Given the description of an element on the screen output the (x, y) to click on. 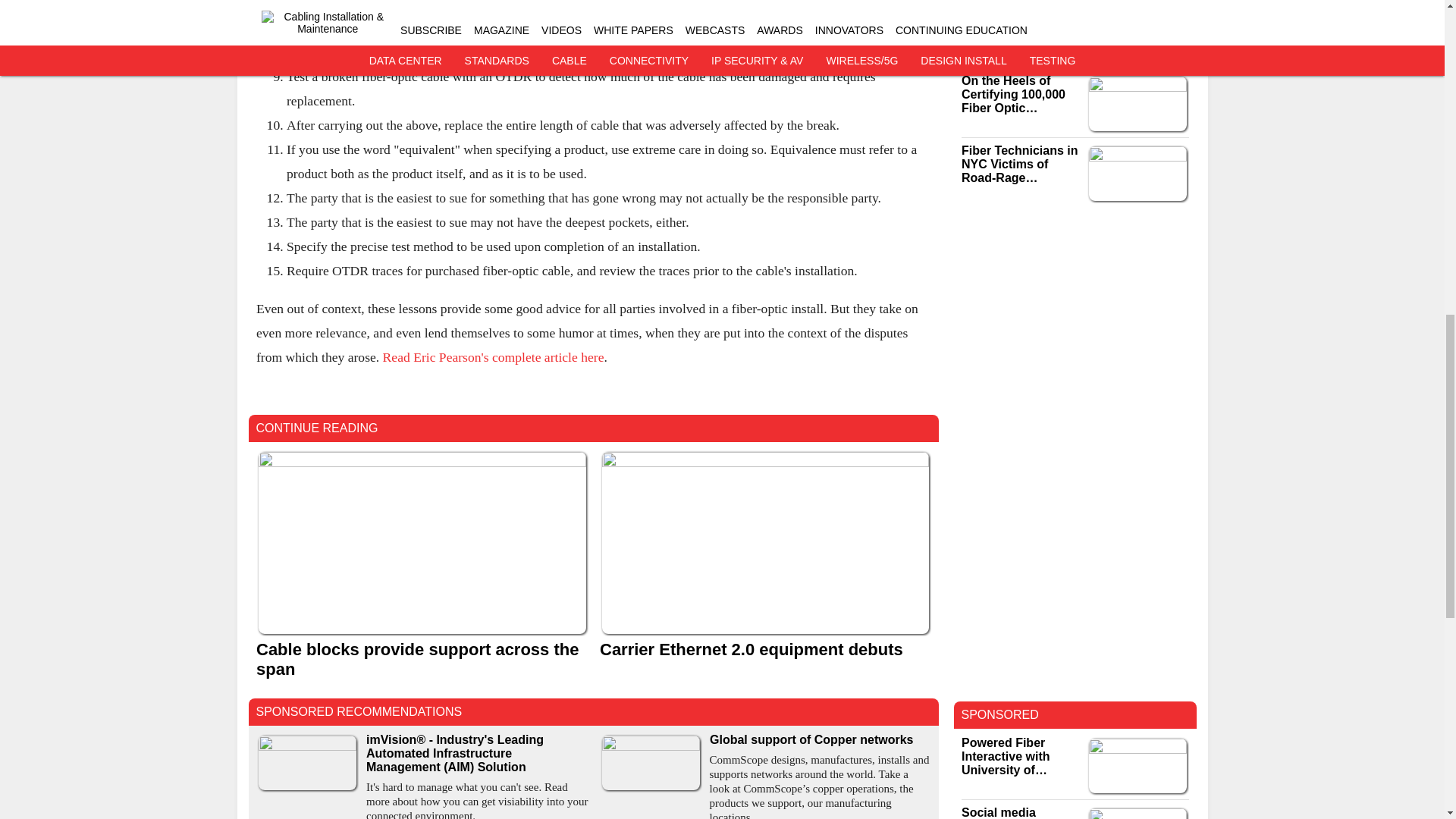
Cable blocks provide support across the span (422, 659)
Read Eric Pearson's complete article here (492, 356)
Carrier Ethernet 2.0 equipment debuts (764, 649)
Global support of Copper networks (820, 739)
